Given the description of an element on the screen output the (x, y) to click on. 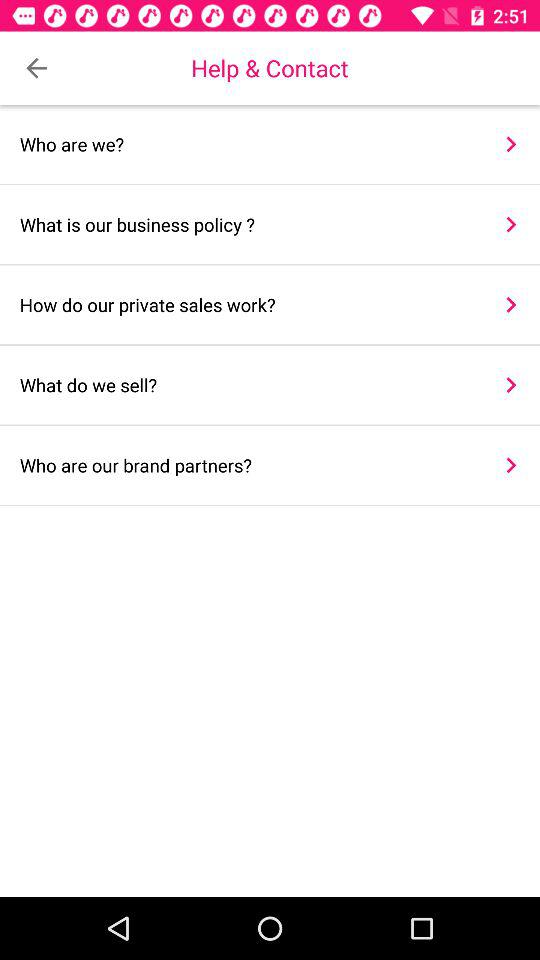
turn off the icon above how do our icon (510, 224)
